Given the description of an element on the screen output the (x, y) to click on. 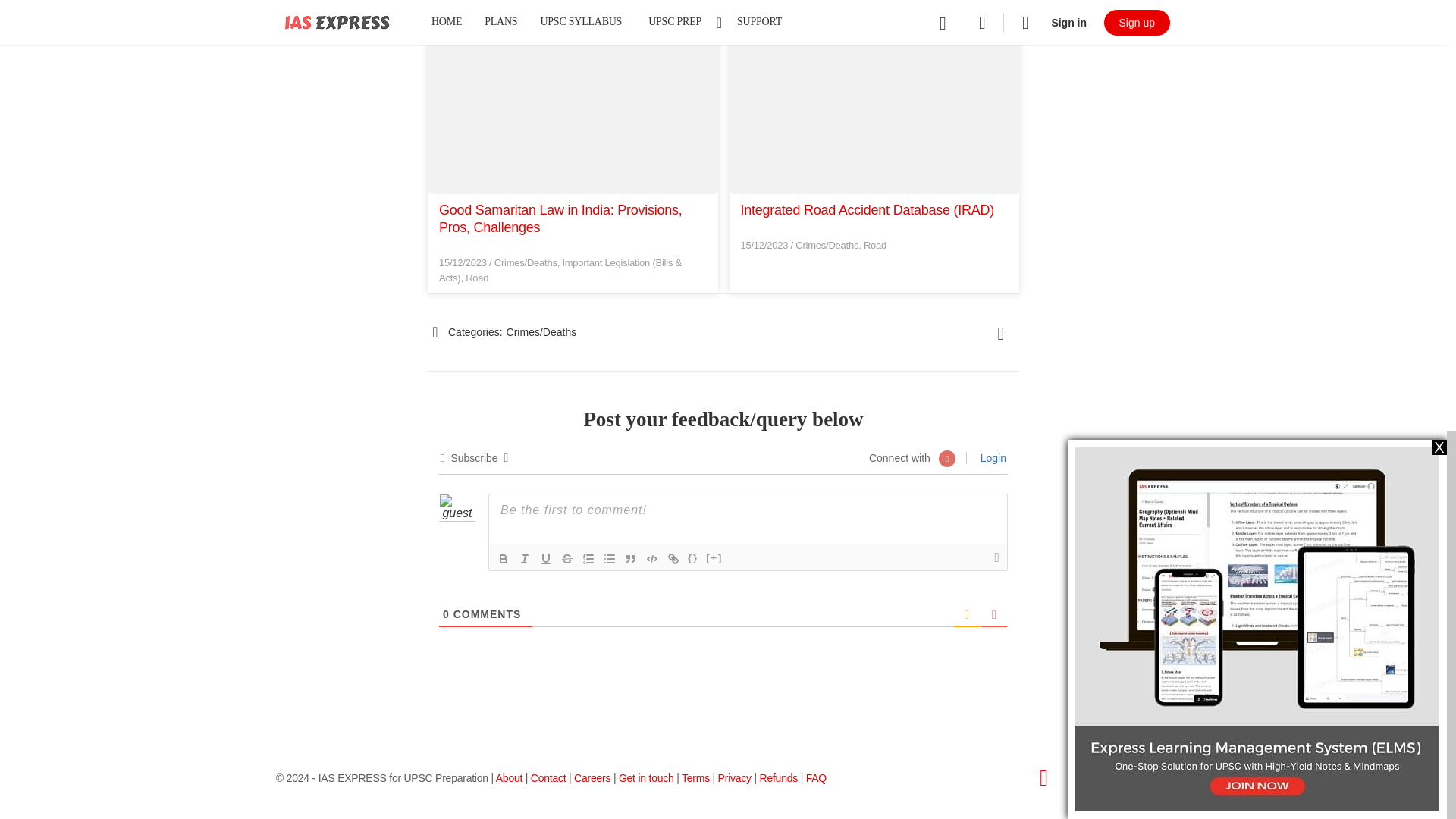
Italic (524, 558)
Road (874, 244)
Road (476, 277)
Underline (545, 558)
Bold (503, 558)
